Given the description of an element on the screen output the (x, y) to click on. 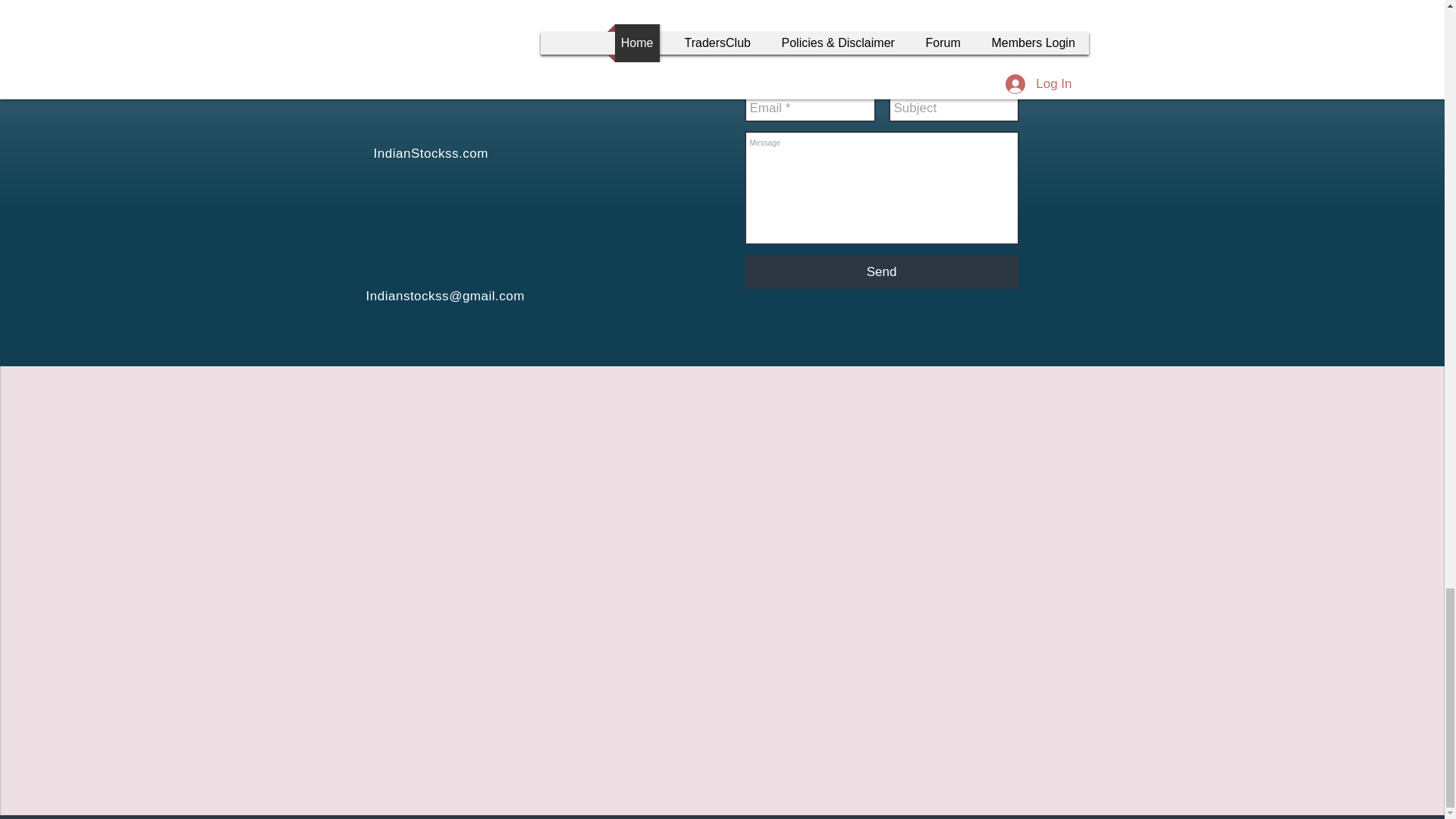
IndianStockss.com (429, 153)
Back to Top (1029, 28)
Subscribe Now (609, 75)
Send (881, 271)
